Given the description of an element on the screen output the (x, y) to click on. 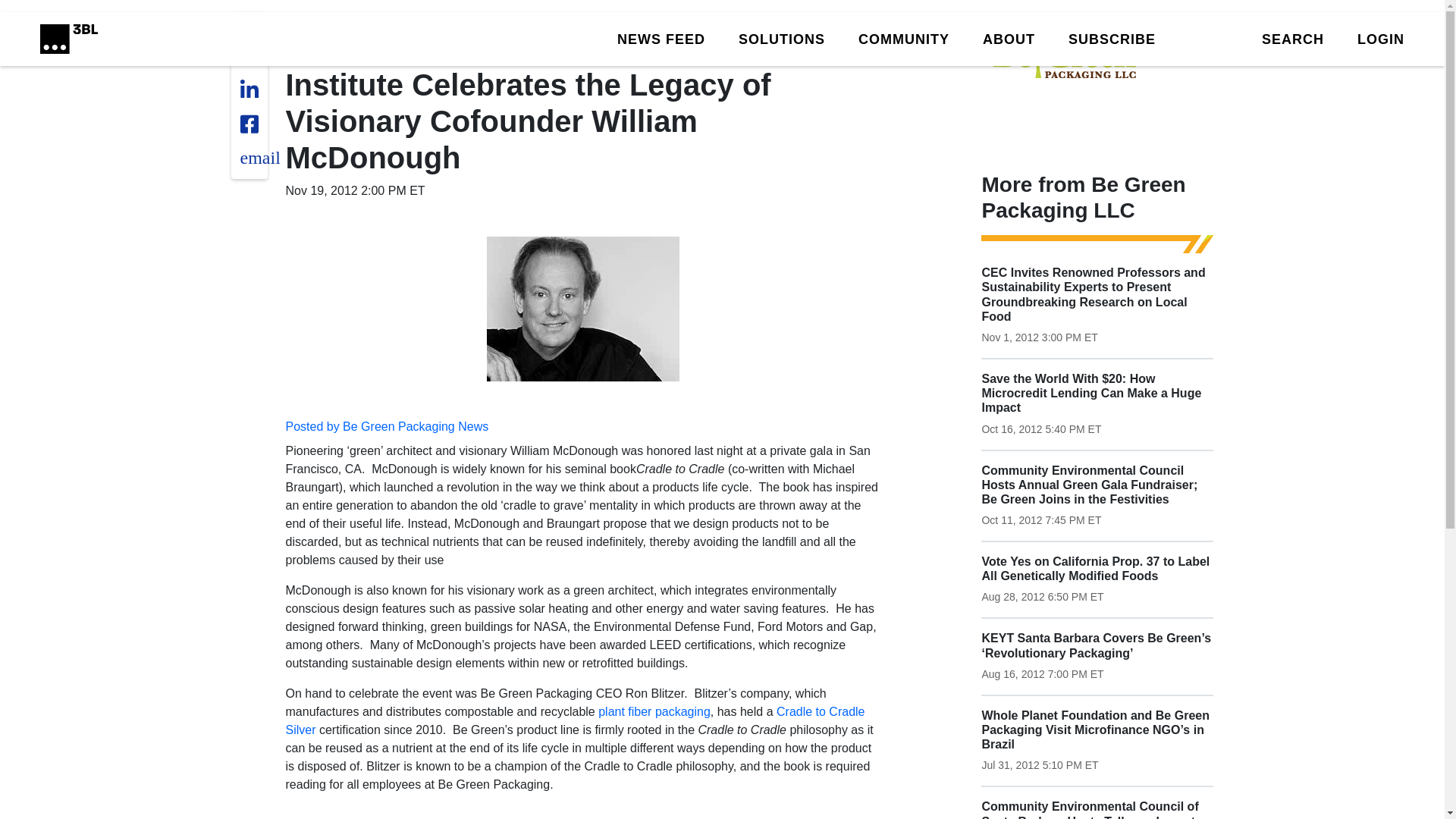
NEWS FEED (660, 38)
ABOUT (1008, 38)
SOLUTIONS (781, 38)
link to 3 B L Media's Twitter (253, 33)
SUBSCRIBE (1112, 38)
COMMUNITY (904, 38)
Share via email (259, 157)
